Given the description of an element on the screen output the (x, y) to click on. 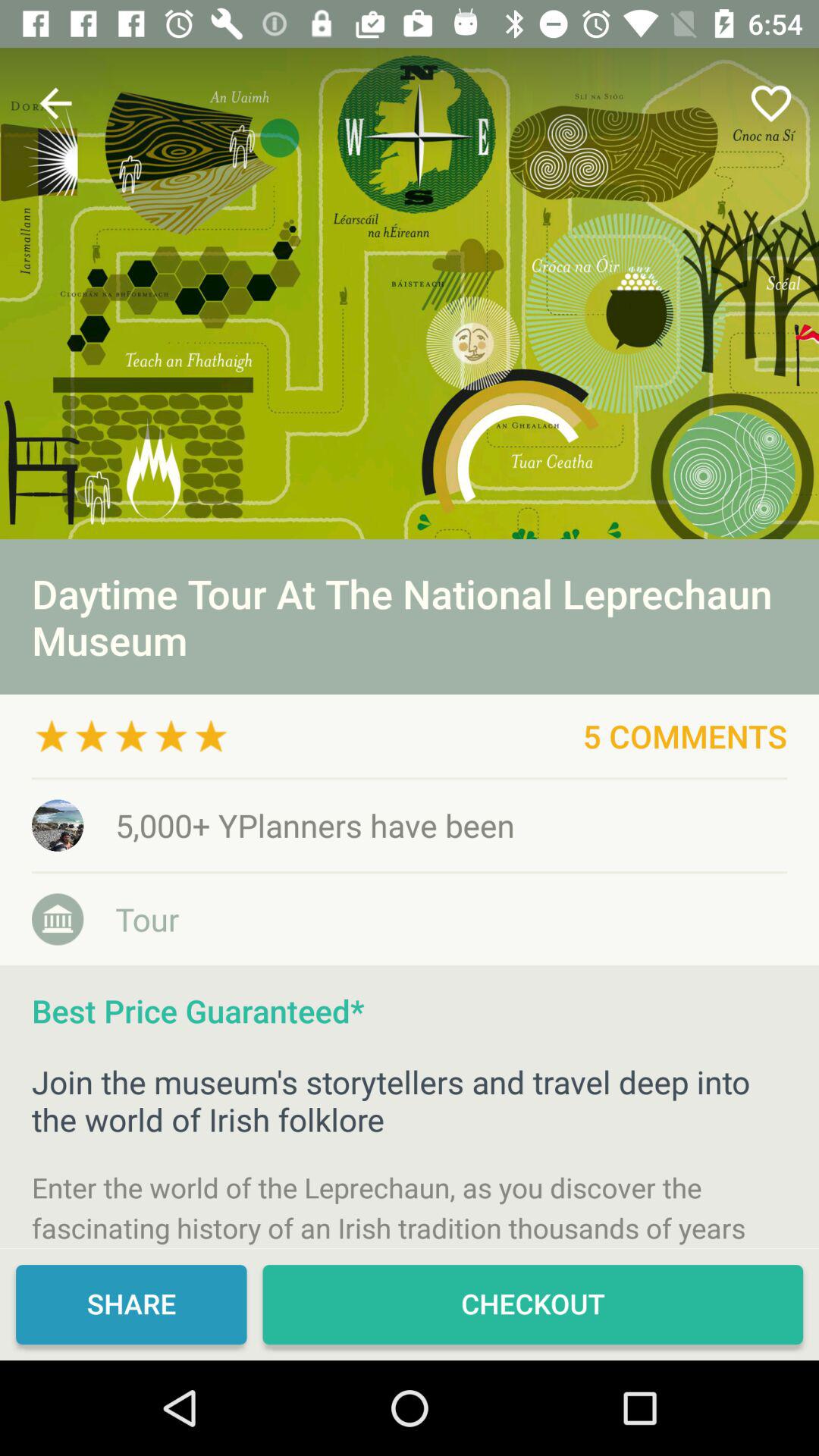
choose share (130, 1304)
